Given the description of an element on the screen output the (x, y) to click on. 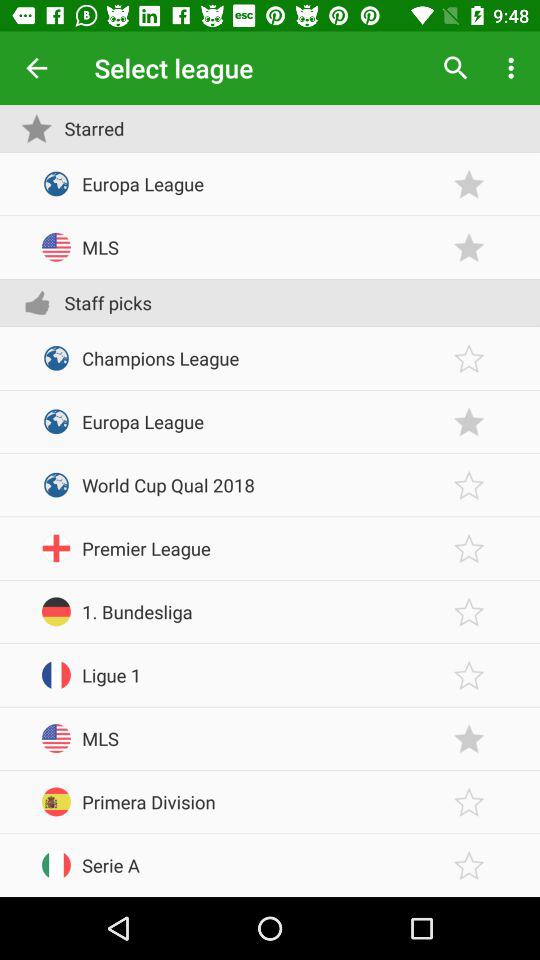
favorite the league (469, 247)
